Given the description of an element on the screen output the (x, y) to click on. 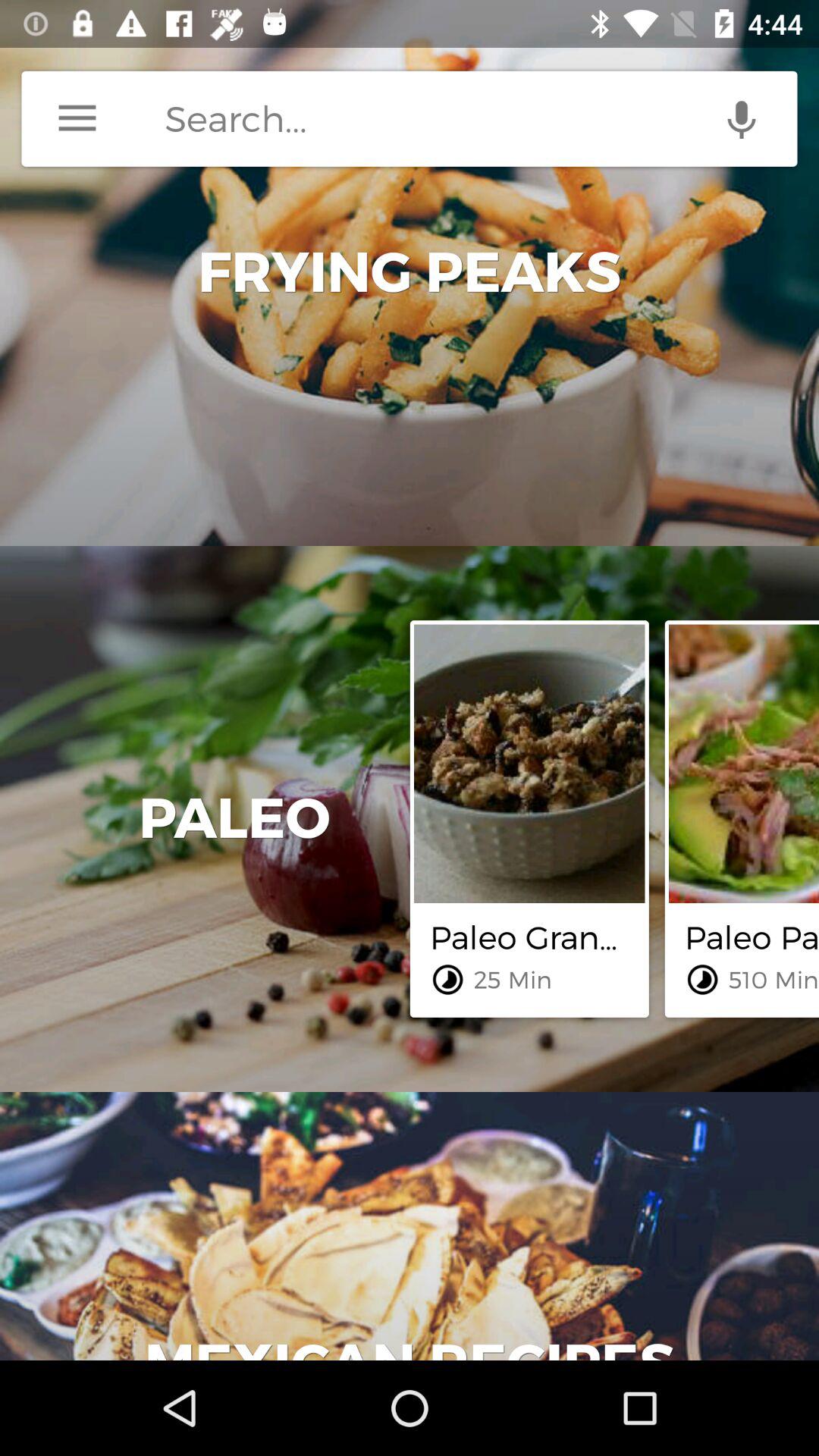
menu (77, 118)
